Given the description of an element on the screen output the (x, y) to click on. 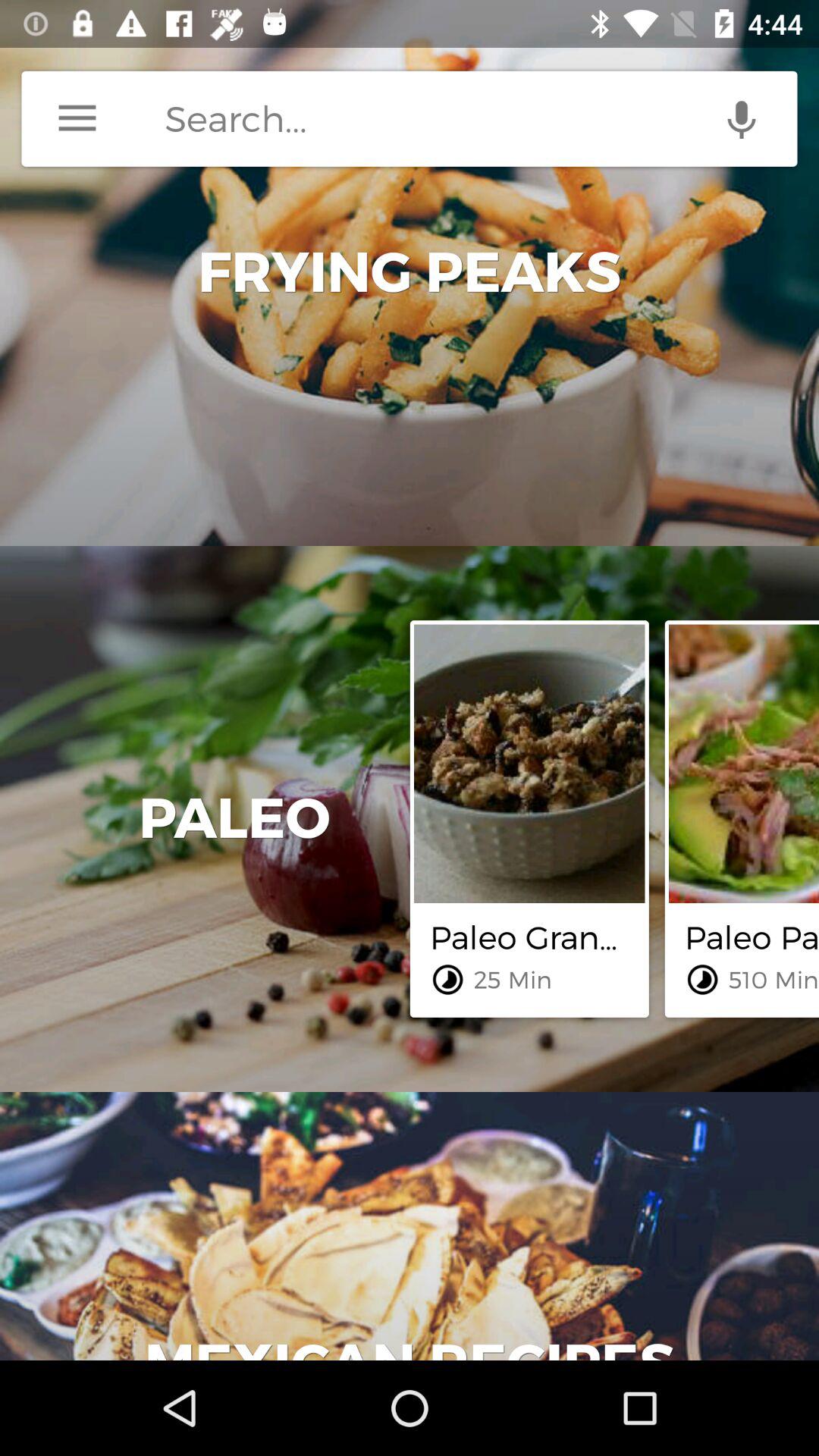
menu (77, 118)
